Given the description of an element on the screen output the (x, y) to click on. 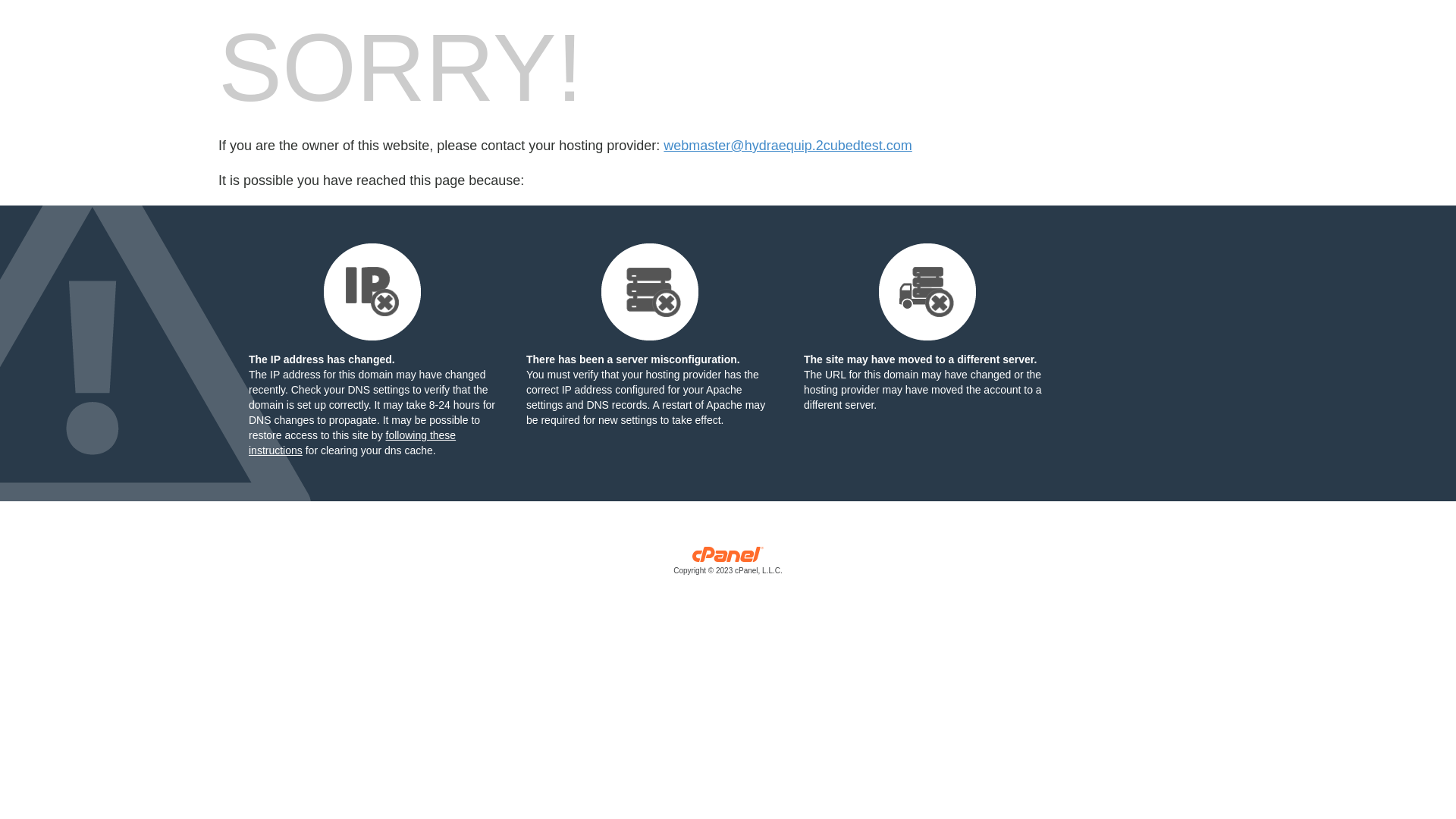
webmaster@hydraequip.2cubedtest.com Element type: text (787, 145)
following these instructions Element type: text (351, 442)
